Given the description of an element on the screen output the (x, y) to click on. 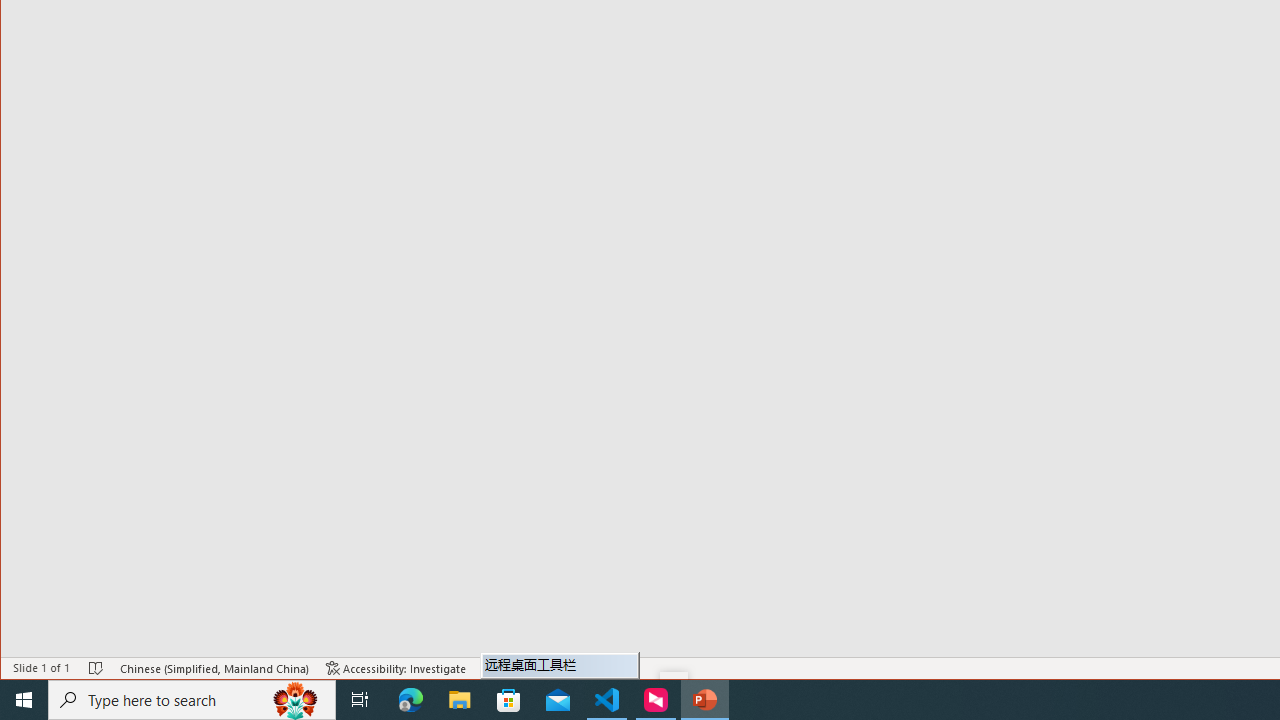
PowerPoint - 1 running window (704, 699)
Microsoft Store (509, 699)
Microsoft Edge (411, 699)
Visual Studio Code - 1 running window (607, 699)
Task View (359, 699)
Type here to search (191, 699)
File Explorer (460, 699)
Search highlights icon opens search home window (295, 699)
